Given the description of an element on the screen output the (x, y) to click on. 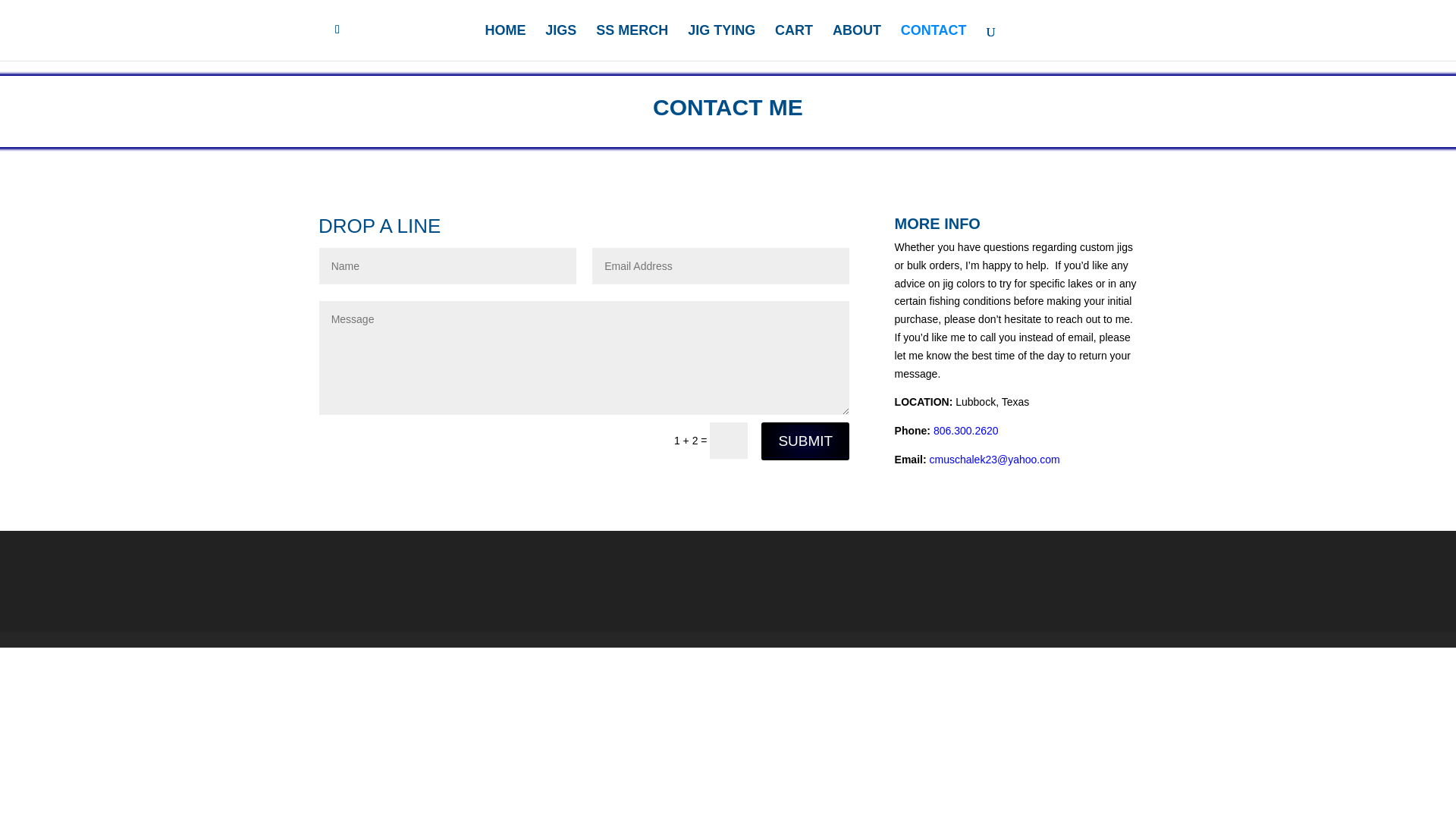
SUBMIT (804, 441)
ABOUT (856, 42)
HOME (504, 42)
SS MERCH (631, 42)
CONTACT (933, 42)
JIG TYING (721, 42)
CART (793, 42)
806.300.2620 (965, 430)
